Given the description of an element on the screen output the (x, y) to click on. 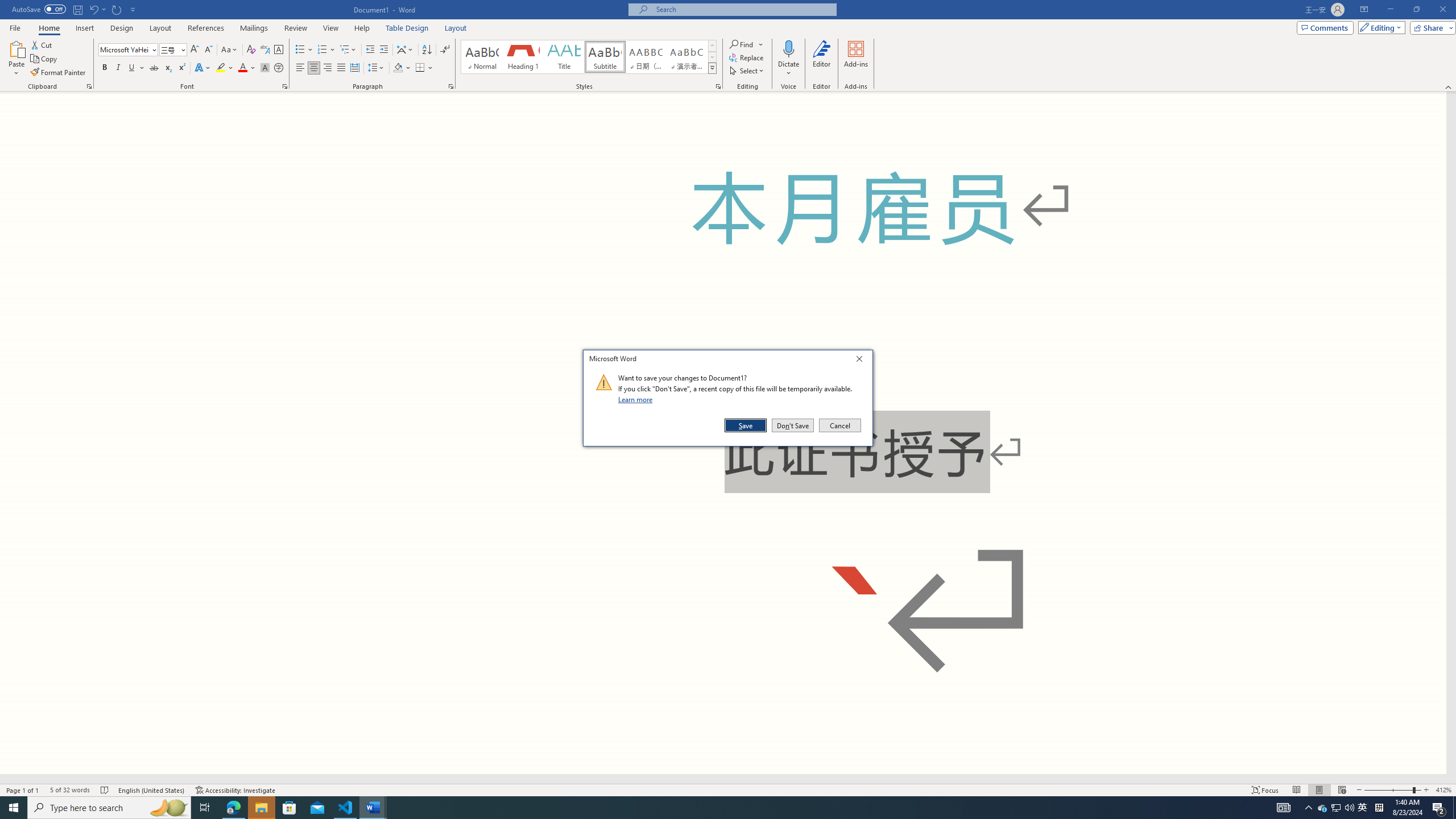
Numbering (322, 49)
Format Painter (58, 72)
Undo Grow Font (92, 9)
Enclose Characters... (278, 67)
Cut (42, 44)
Web Layout (1342, 790)
Class: NetUIScrollBar (722, 778)
Subtitle (605, 56)
Quick Access Toolbar (74, 9)
Tray Input Indicator - Chinese (Simplified, China) (1378, 807)
Underline (131, 67)
Find (746, 44)
Phonetic Guide... (264, 49)
